Given the description of an element on the screen output the (x, y) to click on. 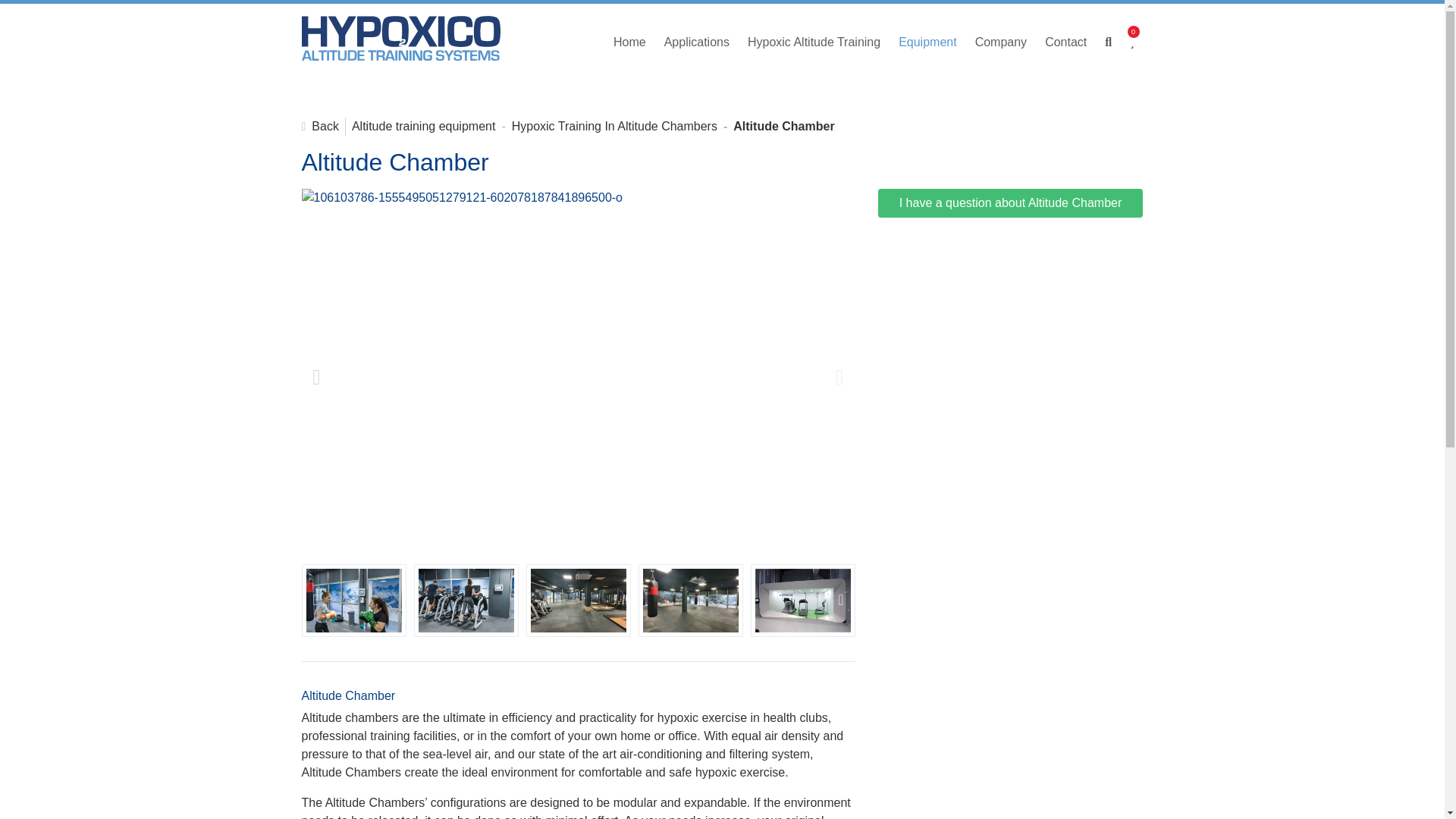
Altitude training equipment (423, 126)
Home (629, 42)
0 (1131, 42)
Hypoxic Altitude Training (813, 42)
Request (1131, 42)
Company (1000, 42)
Hypoxic Training In Altitude Chambers (614, 126)
Contact (1065, 42)
Back (320, 125)
Applications (696, 42)
Hypoxico (400, 41)
Altitude Chamber (783, 126)
Search (1108, 42)
Equipment (927, 42)
